Given the description of an element on the screen output the (x, y) to click on. 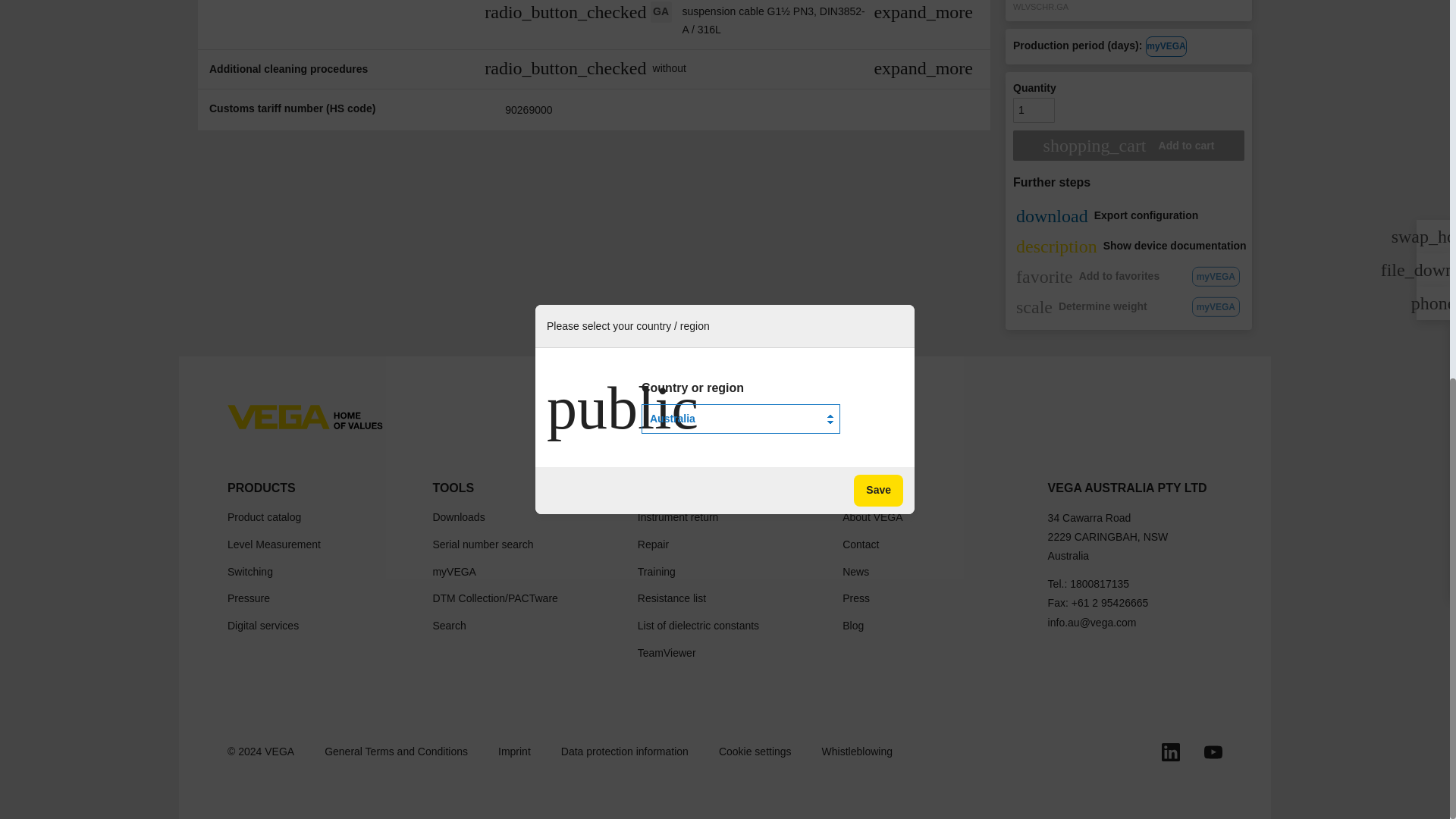
Product catalog (264, 518)
Digital services (262, 627)
Serial number search (482, 546)
Switching (250, 573)
Downloads (458, 518)
Level Measurement (273, 546)
Back to the Homepage (304, 416)
Pressure (248, 599)
1 (1033, 110)
Add to cart (1128, 145)
